Given the description of an element on the screen output the (x, y) to click on. 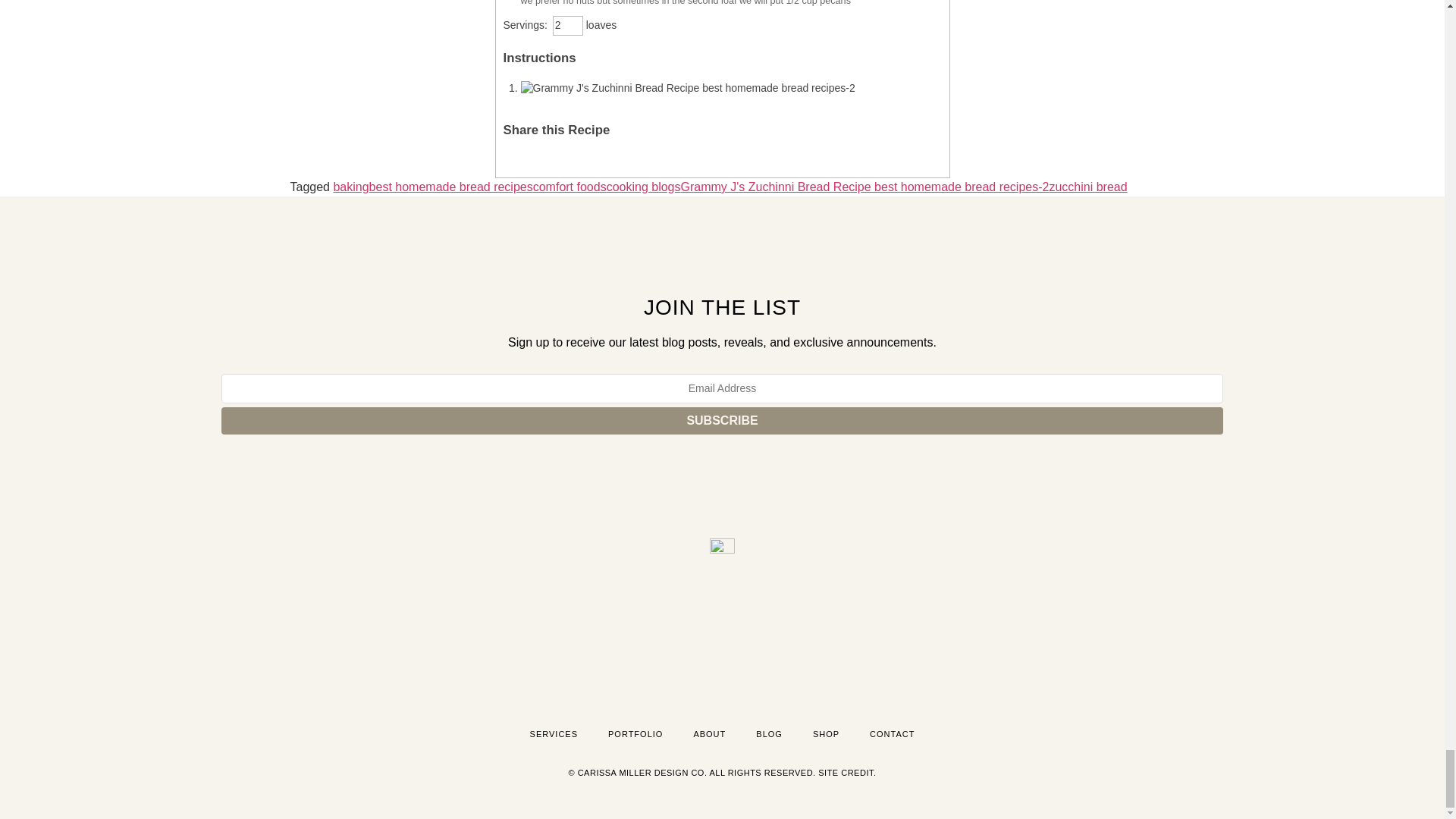
2 (568, 25)
comfort foods (569, 186)
best homemade bread recipes (450, 186)
SUBSCRIBE (722, 420)
cooking blogs (644, 186)
zucchini bread (1087, 186)
baking (350, 186)
